Given the description of an element on the screen output the (x, y) to click on. 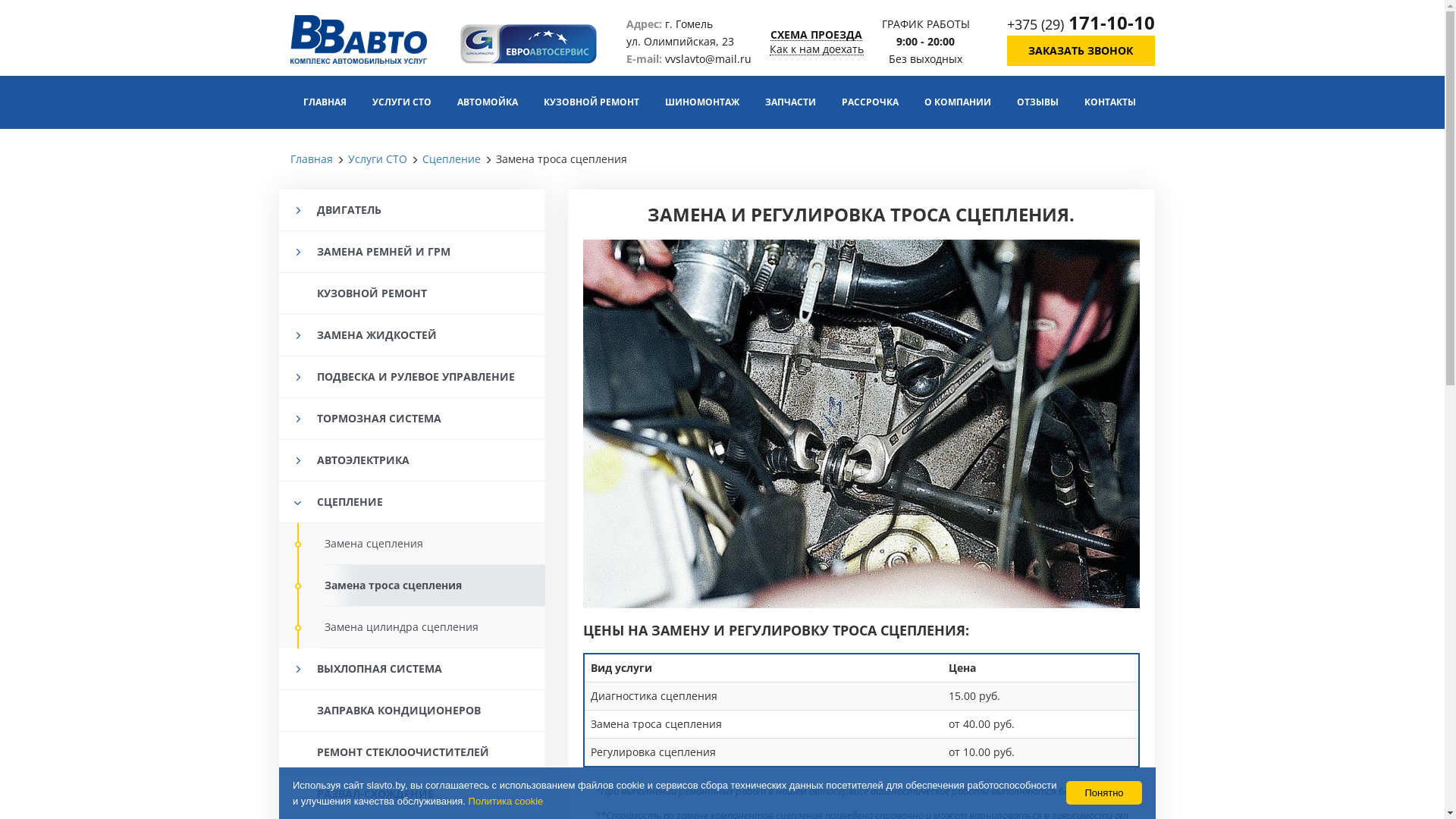
+375 (29) 171-10-10 Element type: text (1080, 24)
